Given the description of an element on the screen output the (x, y) to click on. 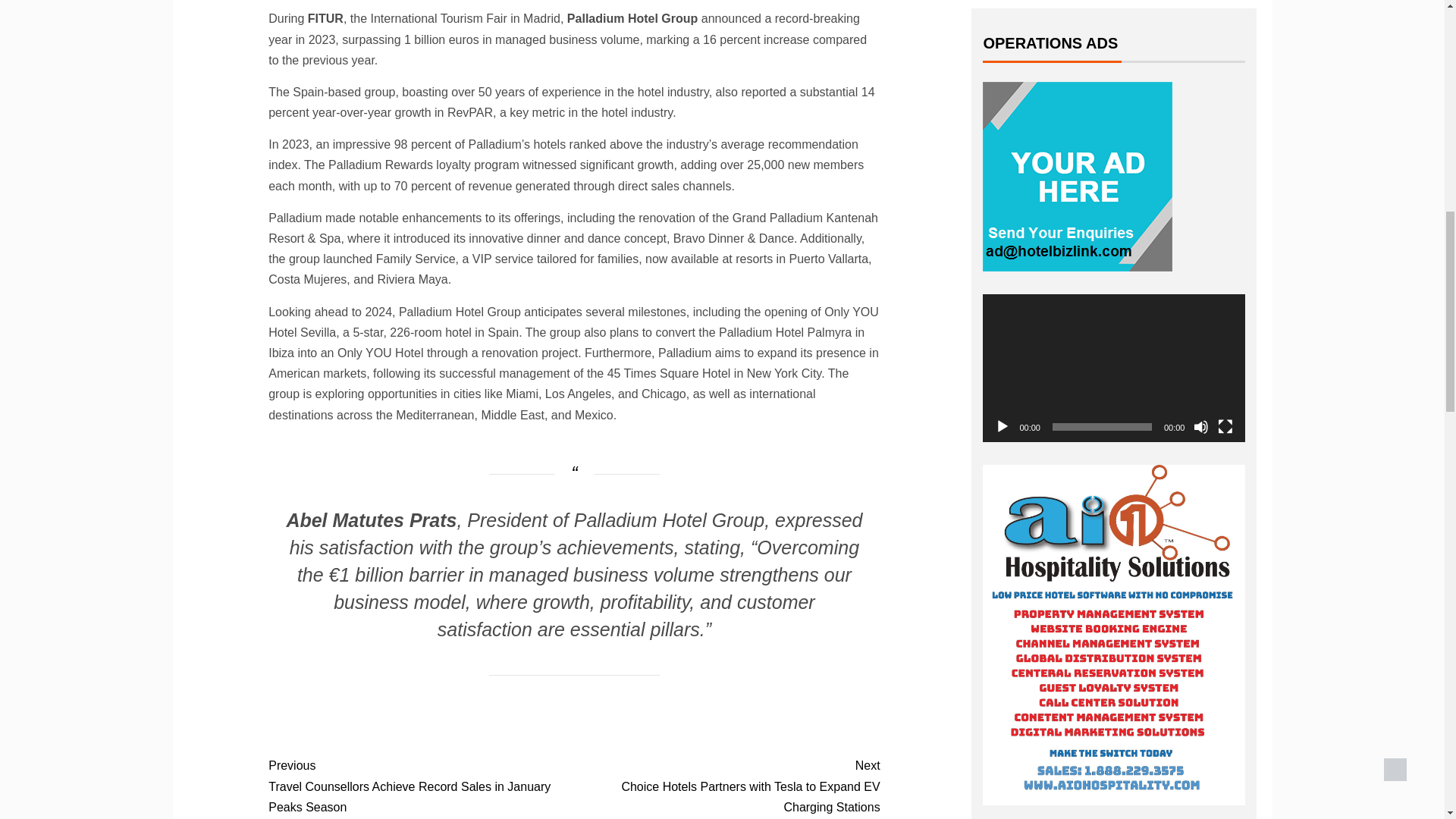
Mute (1200, 426)
Play (1002, 426)
Fullscreen (1225, 426)
